Given the description of an element on the screen output the (x, y) to click on. 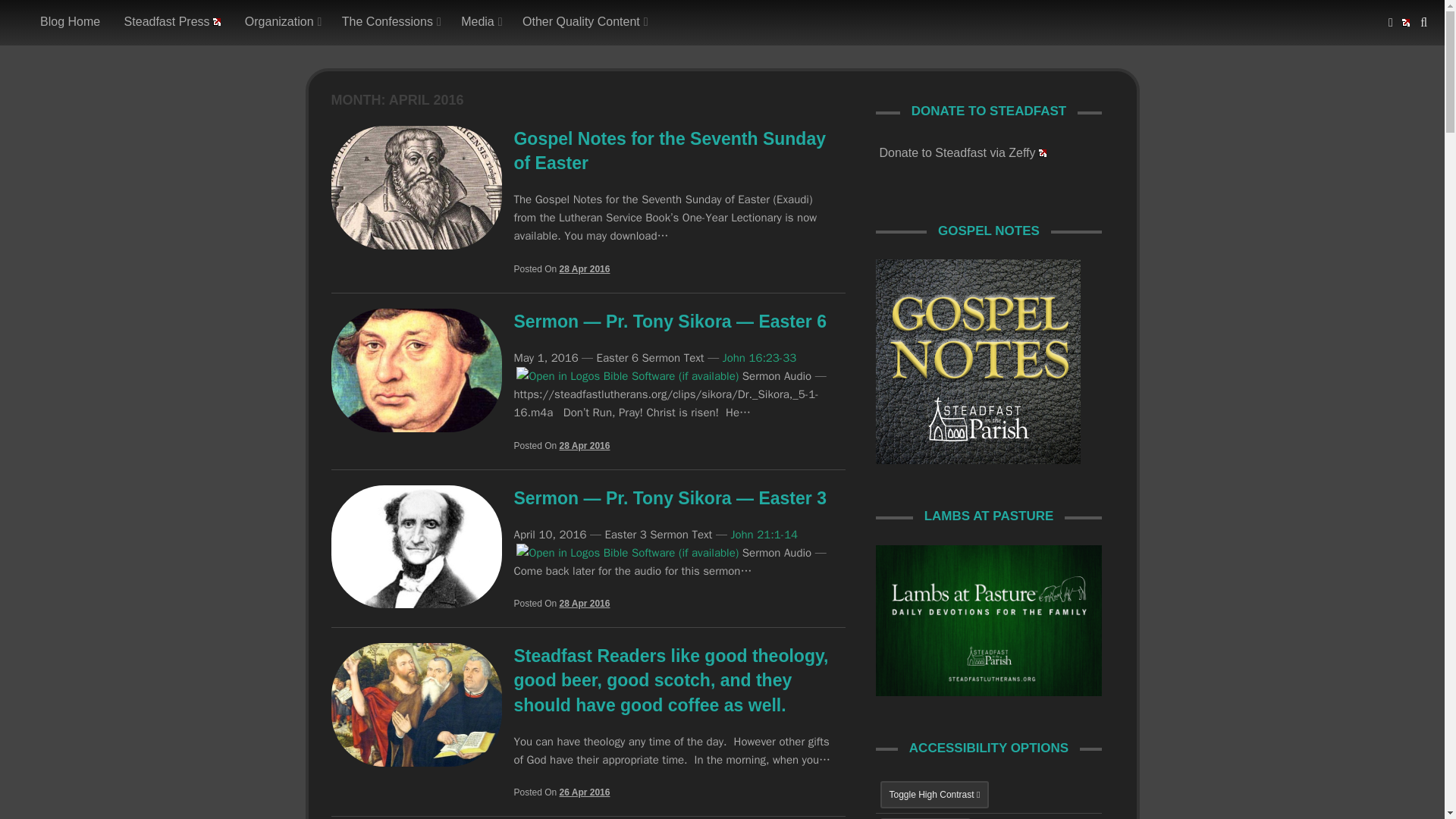
Steadfast Press (173, 22)
Blog Home (70, 22)
Organization (281, 22)
Other Quality Content (582, 22)
Gospel Notes for the Seventh Sunday of Easter (416, 245)
Media (479, 22)
The Confessions (388, 22)
